Given the description of an element on the screen output the (x, y) to click on. 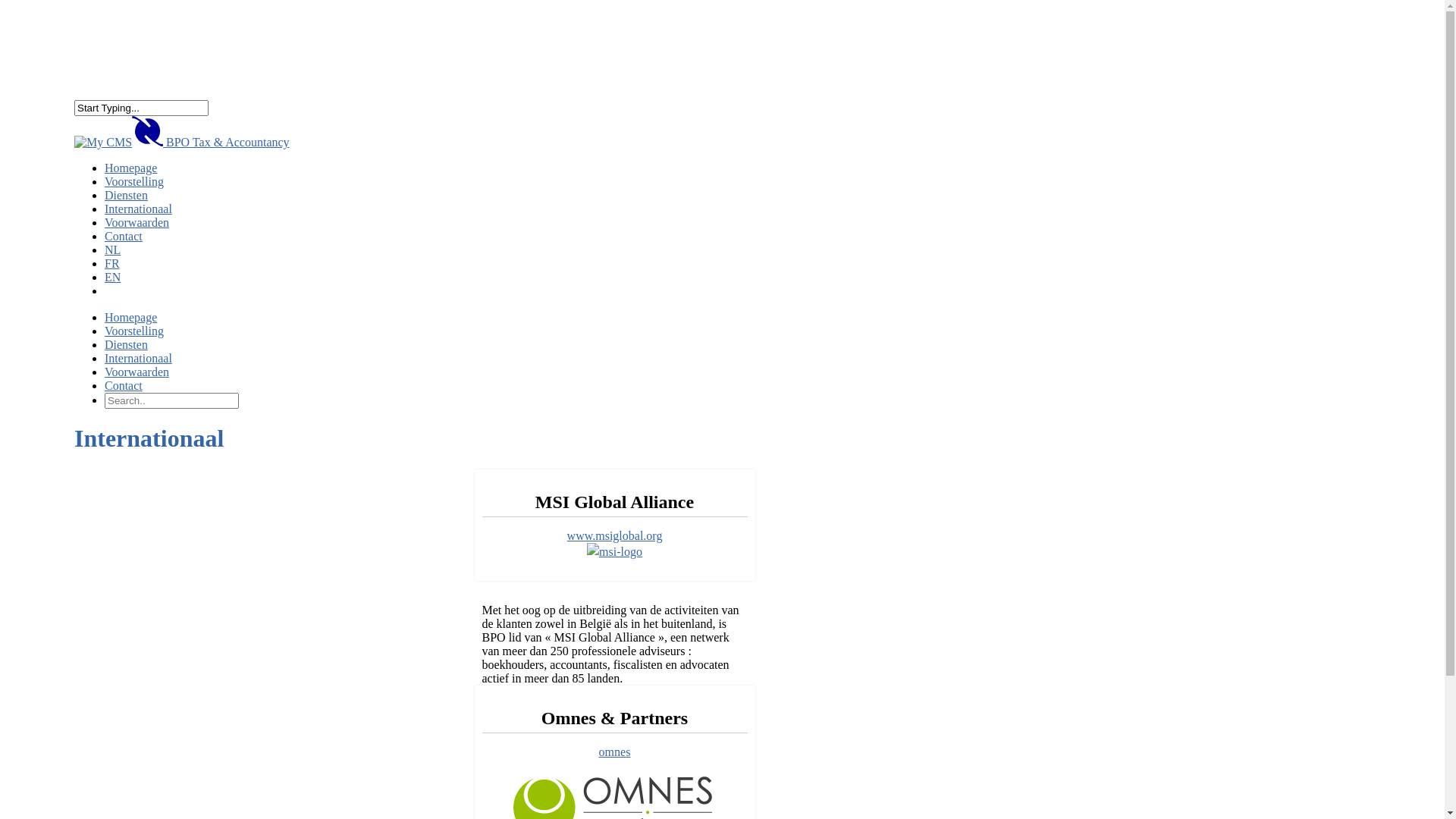
FR Element type: text (111, 273)
BPO Tax & Accountancy Element type: text (181, 141)
Homepage Element type: text (130, 178)
Contact Element type: text (123, 246)
Voorwaarden Element type: text (136, 232)
Internationaal Element type: text (138, 219)
www.msiglobal.org Element type: text (614, 535)
Diensten Element type: text (125, 344)
Voorstelling Element type: text (133, 191)
omnes Element type: text (614, 751)
NL Element type: text (112, 260)
Voorstelling Element type: text (133, 330)
Contact Element type: text (123, 385)
Diensten Element type: text (125, 205)
EN Element type: text (112, 287)
Homepage Element type: text (130, 316)
Internationaal Element type: text (138, 357)
Voorwaarden Element type: text (136, 371)
